Given the description of an element on the screen output the (x, y) to click on. 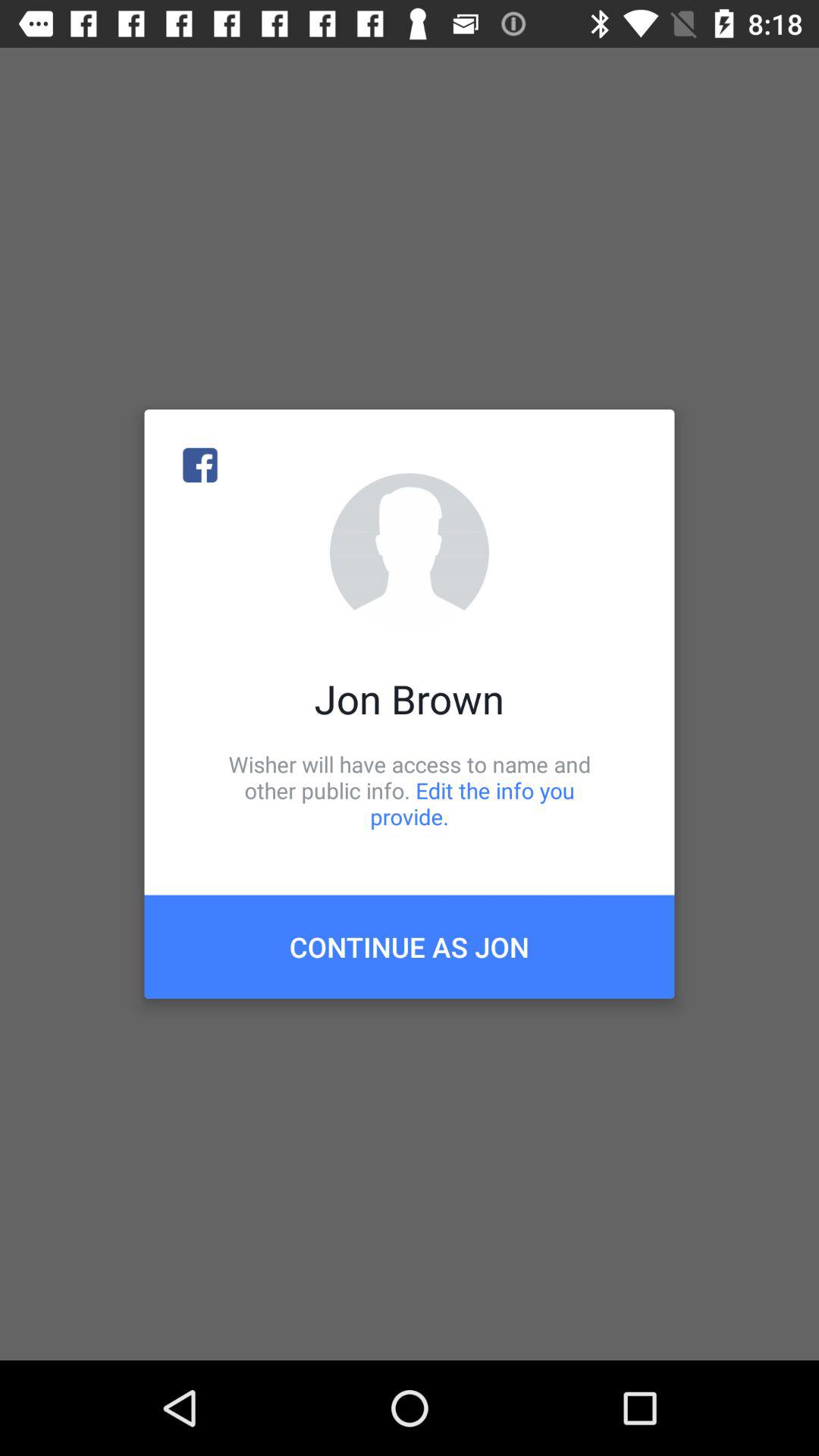
scroll to continue as jon item (409, 946)
